Given the description of an element on the screen output the (x, y) to click on. 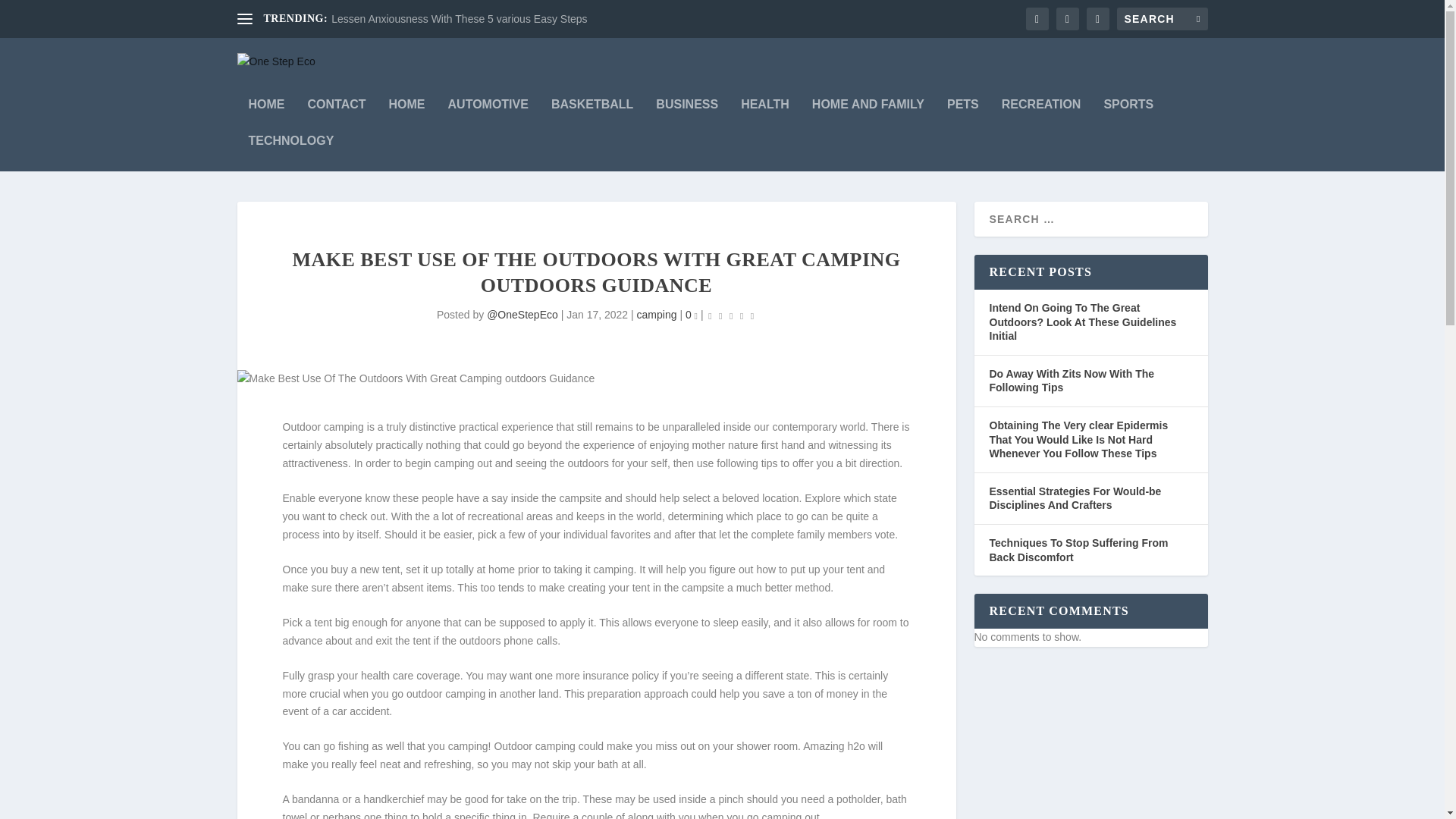
HOME (406, 116)
Search for: (1161, 18)
HOME AND FAMILY (868, 116)
HEALTH (765, 116)
AUTOMOTIVE (488, 116)
Lessen Anxiousness With These 5 various Easy Steps (458, 19)
RECREATION (1041, 116)
HOME (266, 116)
CONTACT (336, 116)
BUSINESS (686, 116)
